Given the description of an element on the screen output the (x, y) to click on. 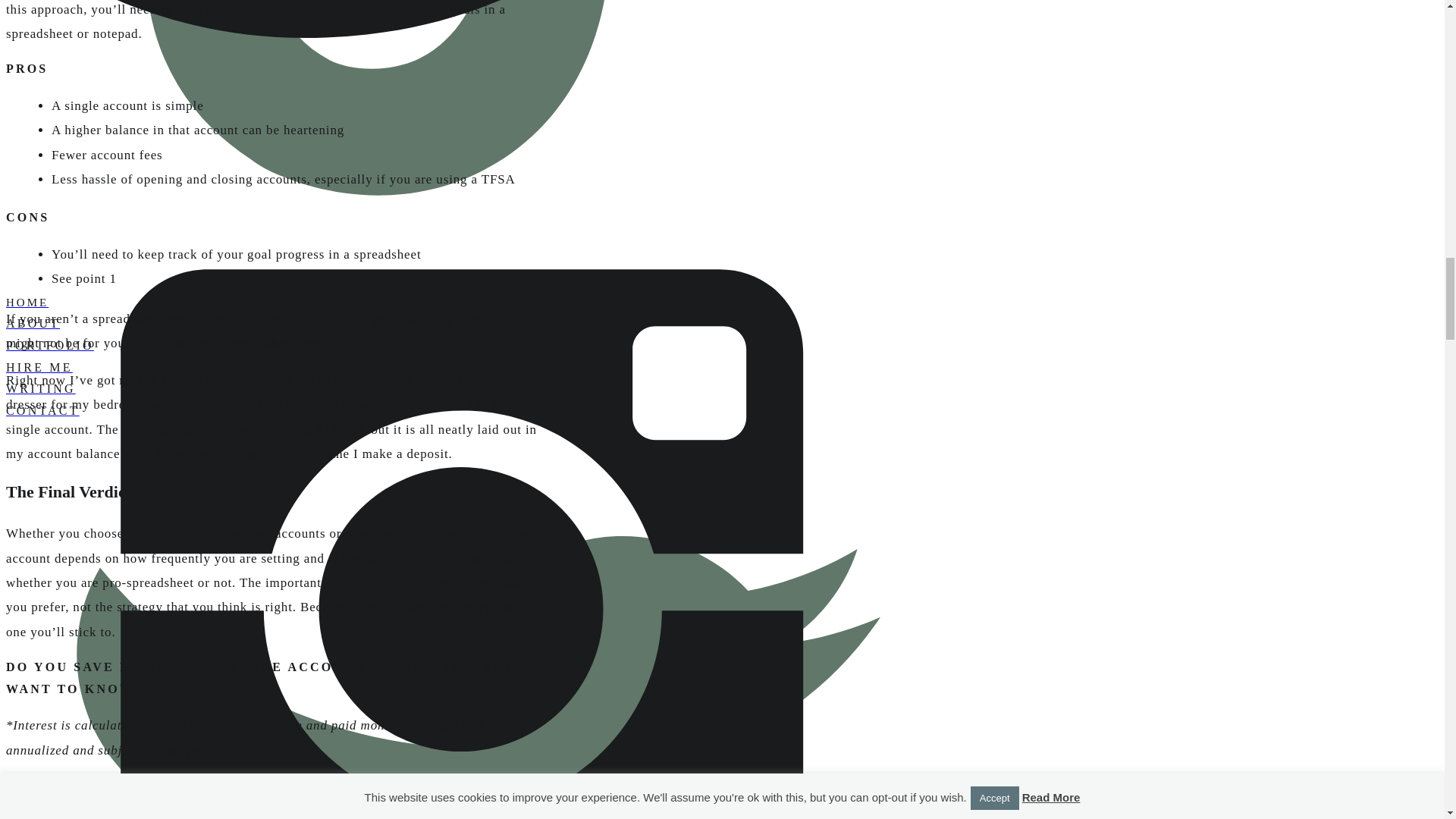
ABOUT (460, 323)
PORTFOLIO (460, 345)
HOME (460, 302)
CONTACT (460, 411)
HIRE ME (460, 368)
WRITING (460, 389)
